Given the description of an element on the screen output the (x, y) to click on. 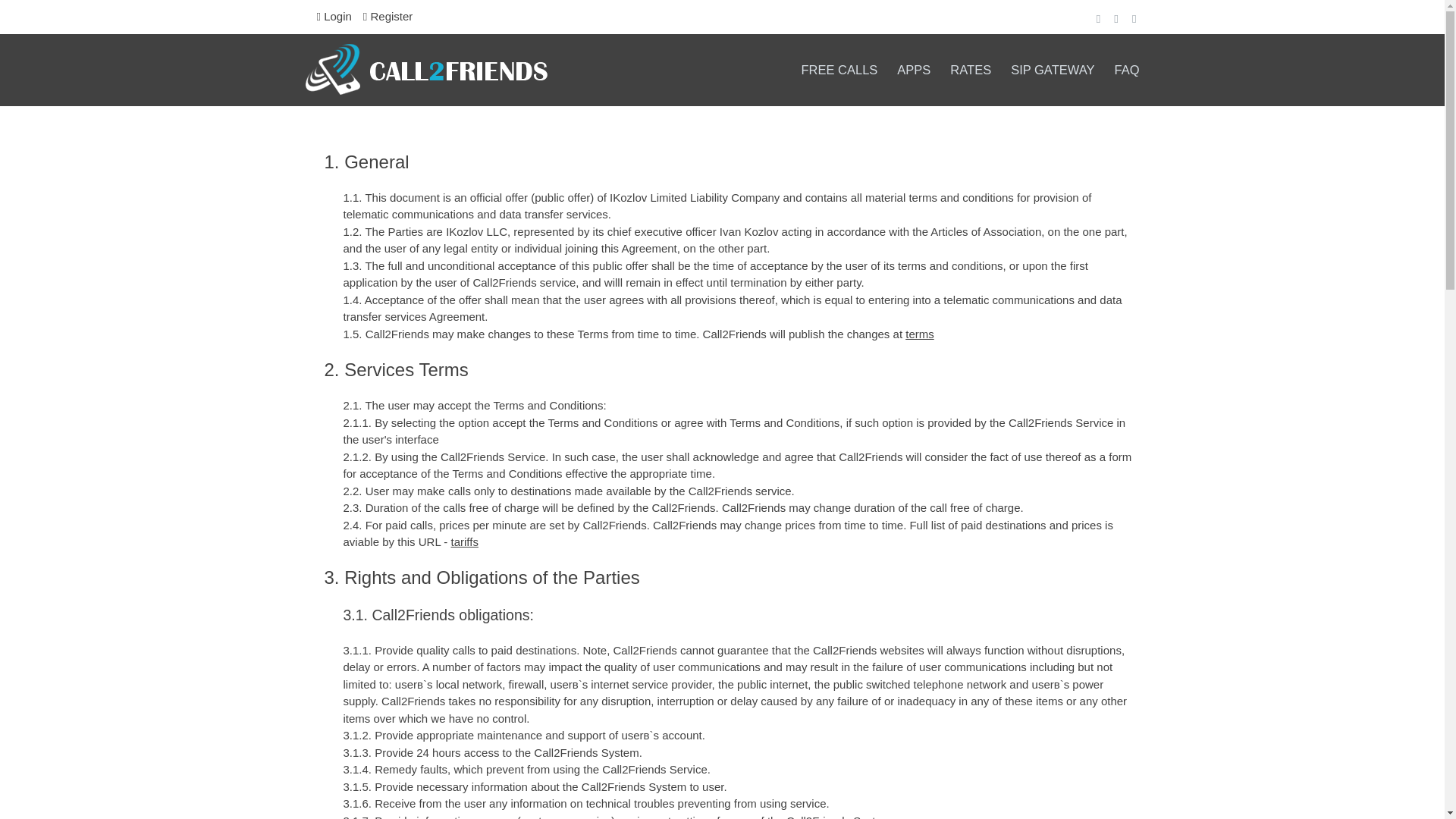
FAQ (1126, 70)
Share to Twitter (1115, 18)
RATES (970, 70)
APPS (913, 70)
SIP GATEWAY (1052, 70)
tariffs (465, 541)
Share to Facebook (1098, 18)
Share to VK.com (1133, 18)
FREE CALLS (839, 70)
Login (334, 16)
terms (919, 333)
Register (387, 16)
